Given the description of an element on the screen output the (x, y) to click on. 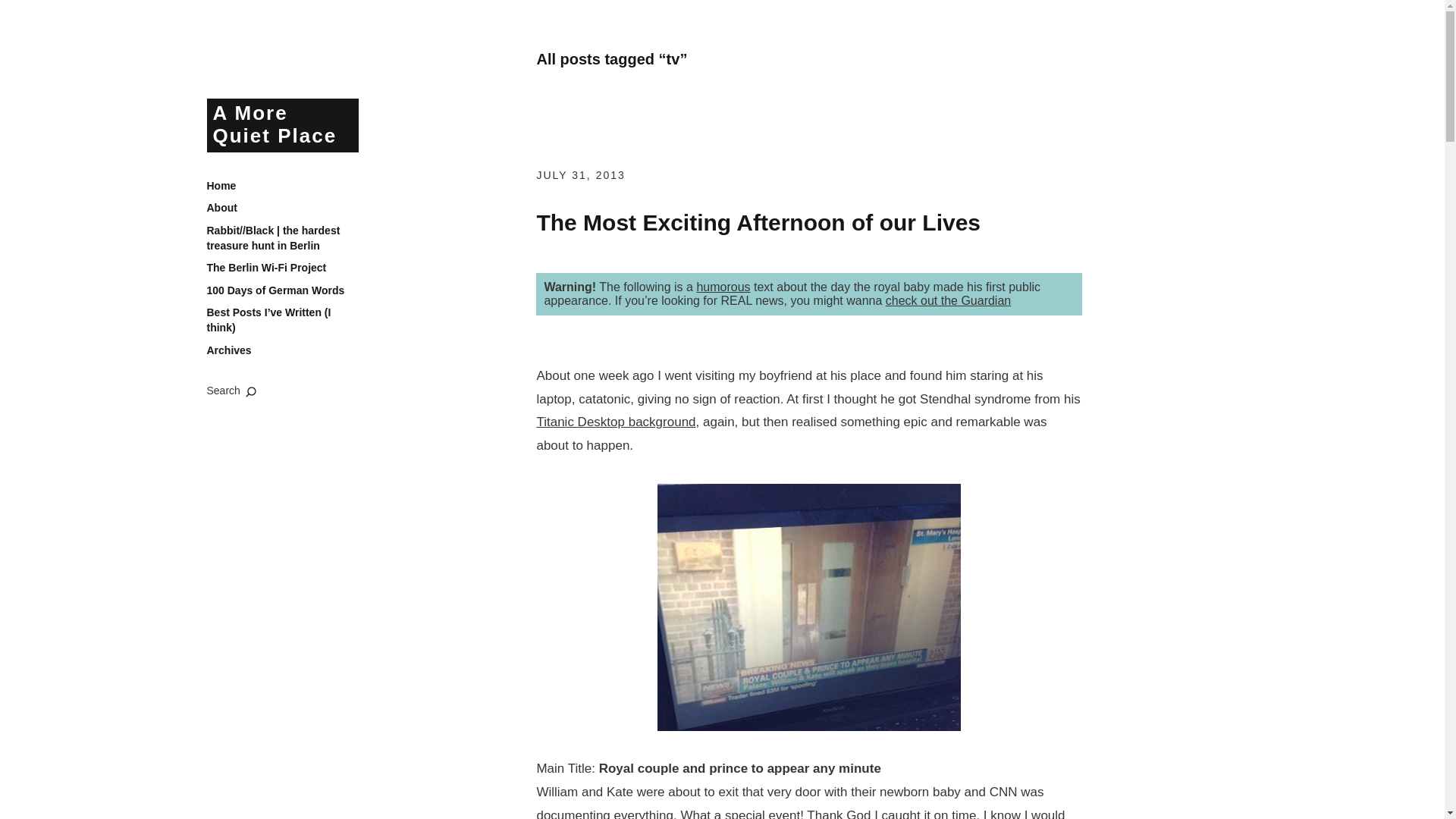
Archives (228, 350)
check out the Guardian (947, 300)
The Berlin Wi-Fi Project (266, 268)
A More Quiet Place (282, 125)
JULY 31, 2013 (579, 174)
A More Quiet Place (282, 125)
About (220, 208)
The Most Exciting Afternoon of our Lives (757, 222)
Home (220, 186)
Titanic Desktop background (615, 421)
Permalink to The Most Exciting Afternoon of our Lives (757, 222)
titanic desktop (615, 421)
royal baby on the guardian (947, 300)
100 Days of German Words (274, 290)
